Given the description of an element on the screen output the (x, y) to click on. 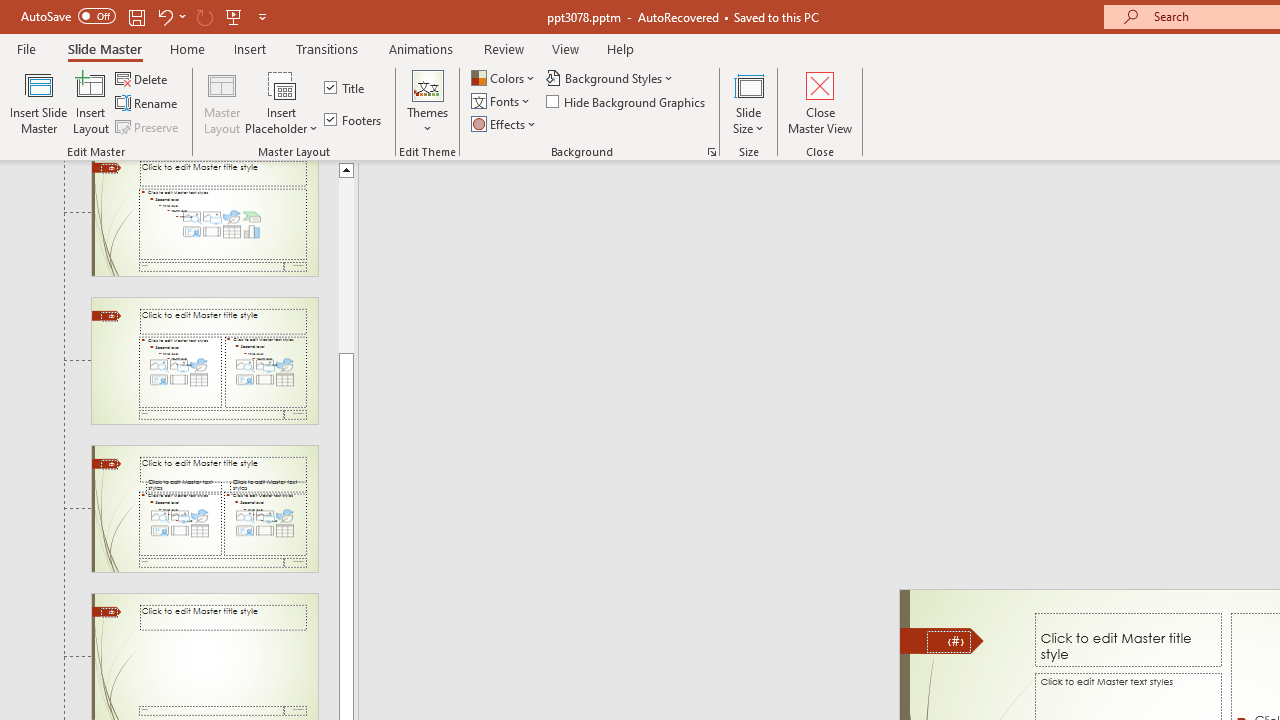
Title (346, 87)
Slide Number (948, 641)
Hide Background Graphics (626, 101)
Fonts (502, 101)
Slide Title Only Layout: used by no slides (204, 657)
Preserve (148, 126)
Rename (148, 103)
